Given the description of an element on the screen output the (x, y) to click on. 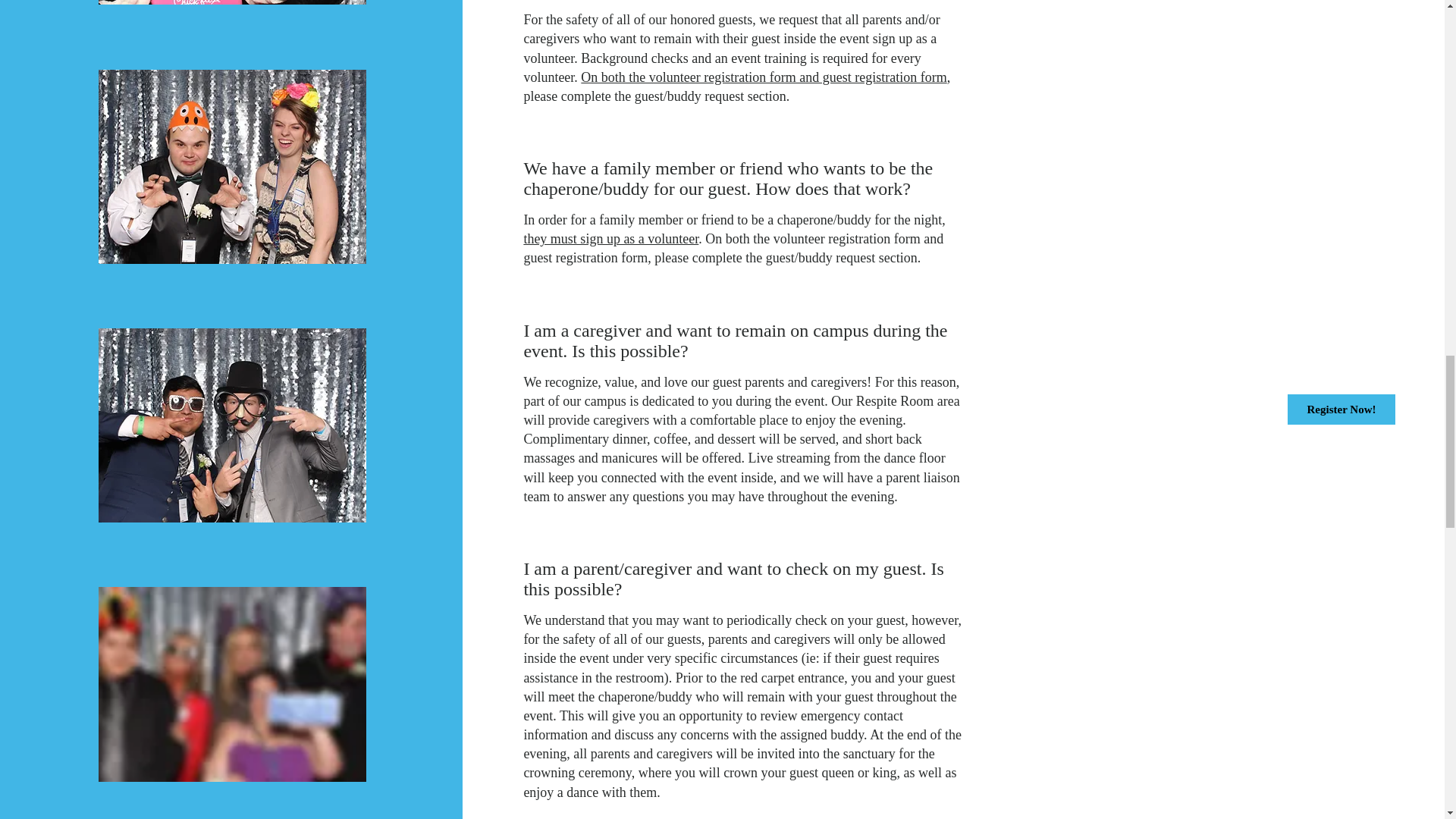
they must sign up as a volunteer (610, 238)
